Given the description of an element on the screen output the (x, y) to click on. 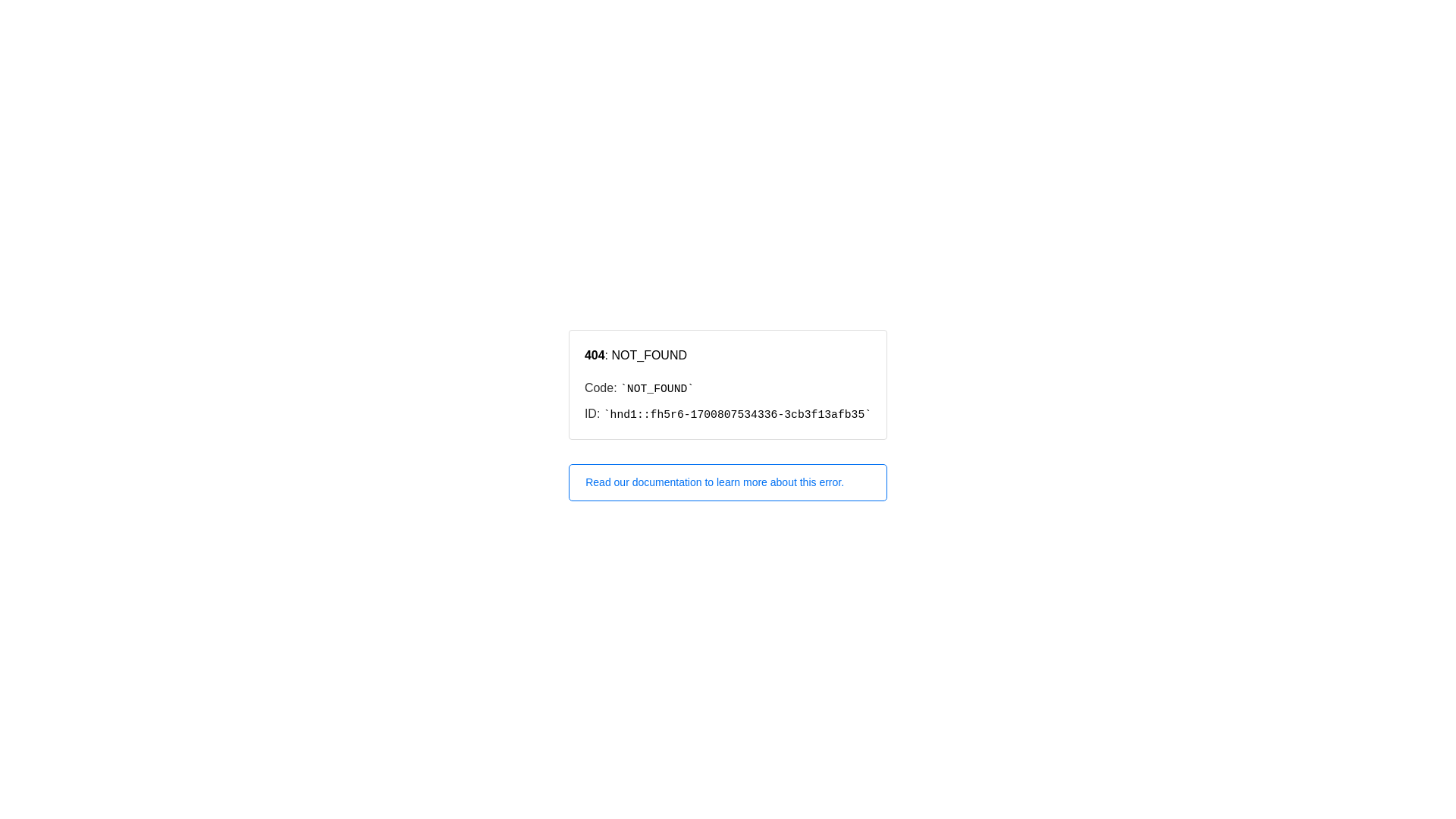
Read our documentation to learn more about this error. Element type: text (727, 482)
